Given the description of an element on the screen output the (x, y) to click on. 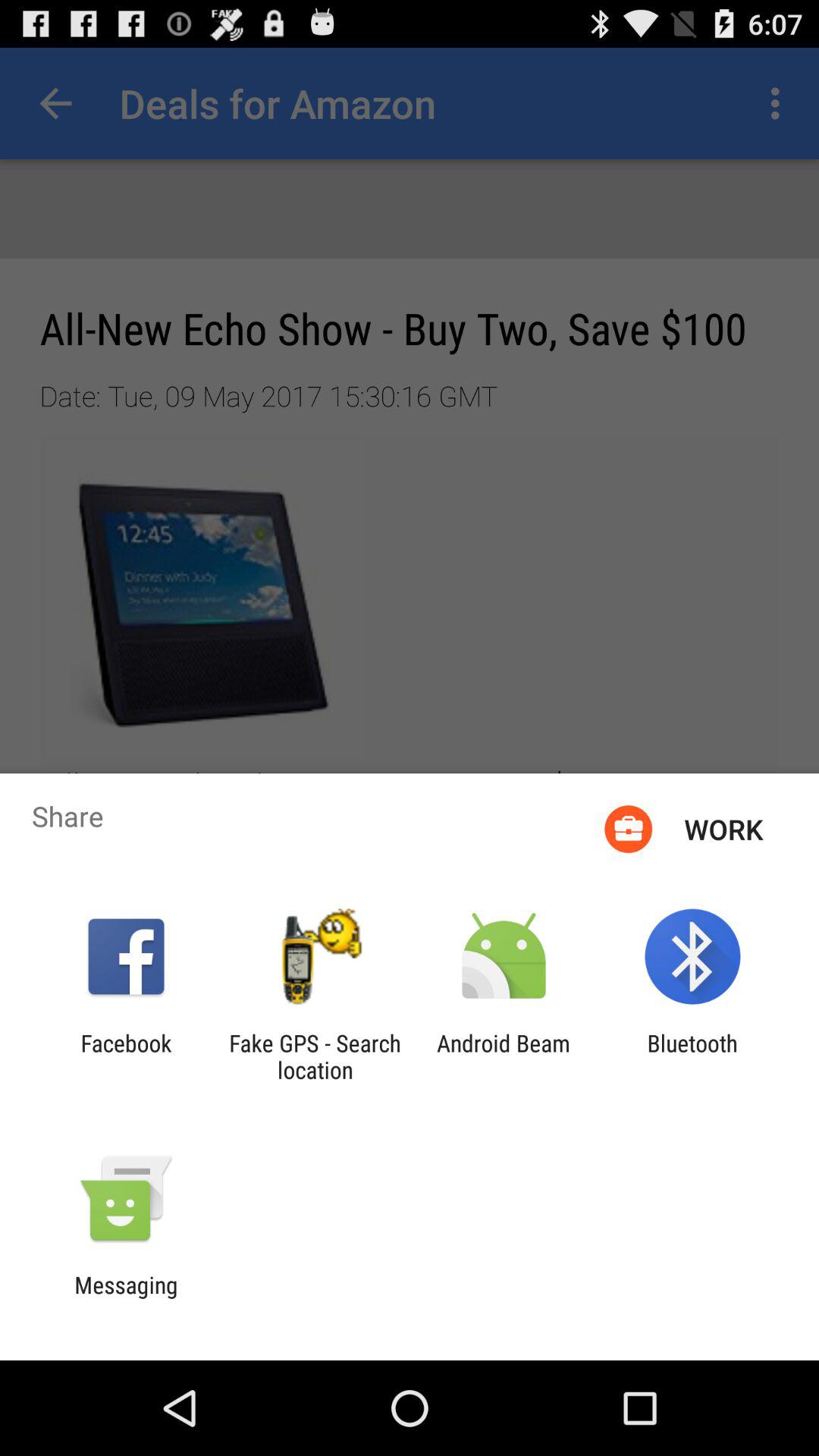
scroll until the bluetooth app (692, 1056)
